Given the description of an element on the screen output the (x, y) to click on. 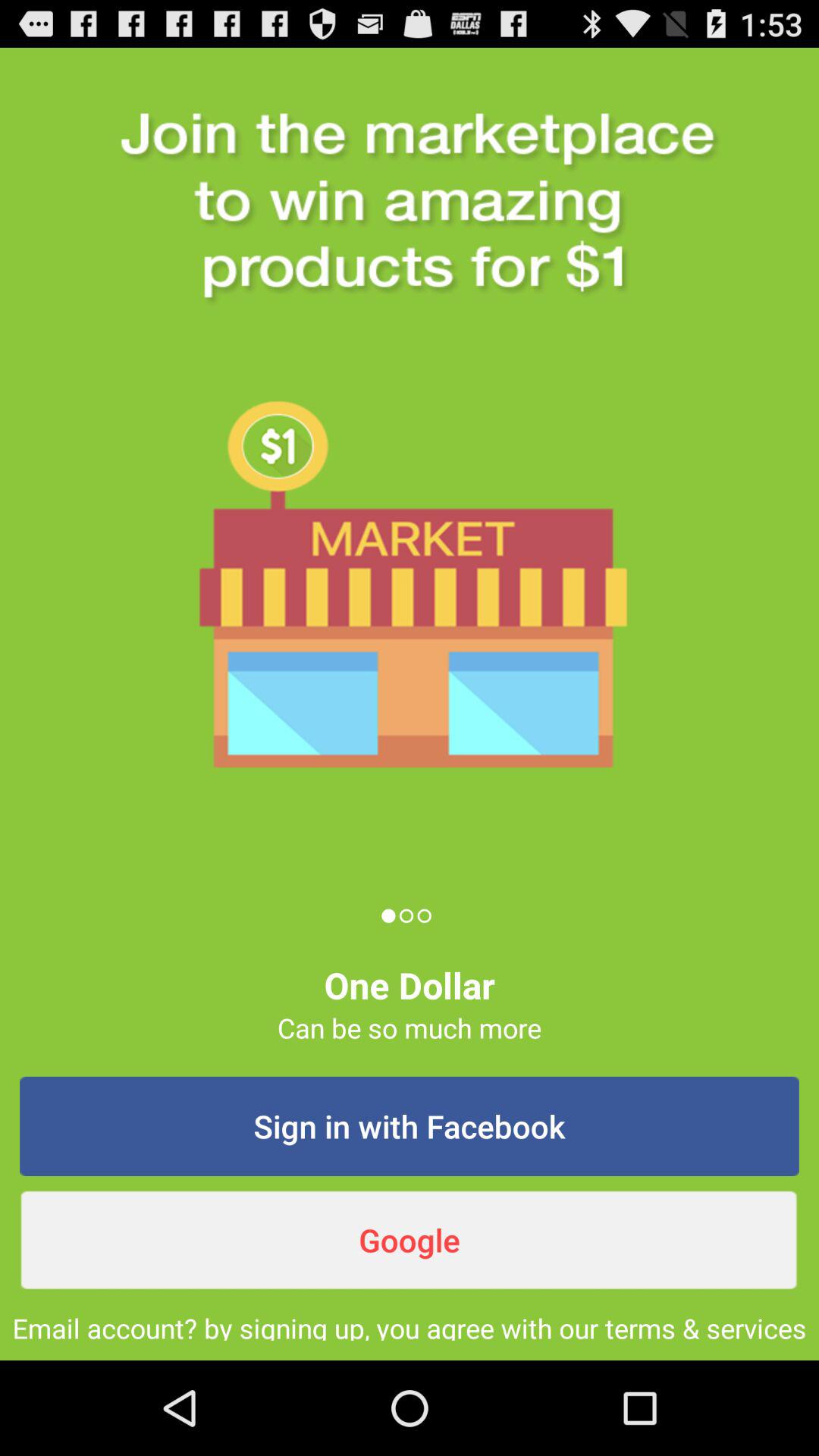
select sign in with icon (409, 1126)
